Given the description of an element on the screen output the (x, y) to click on. 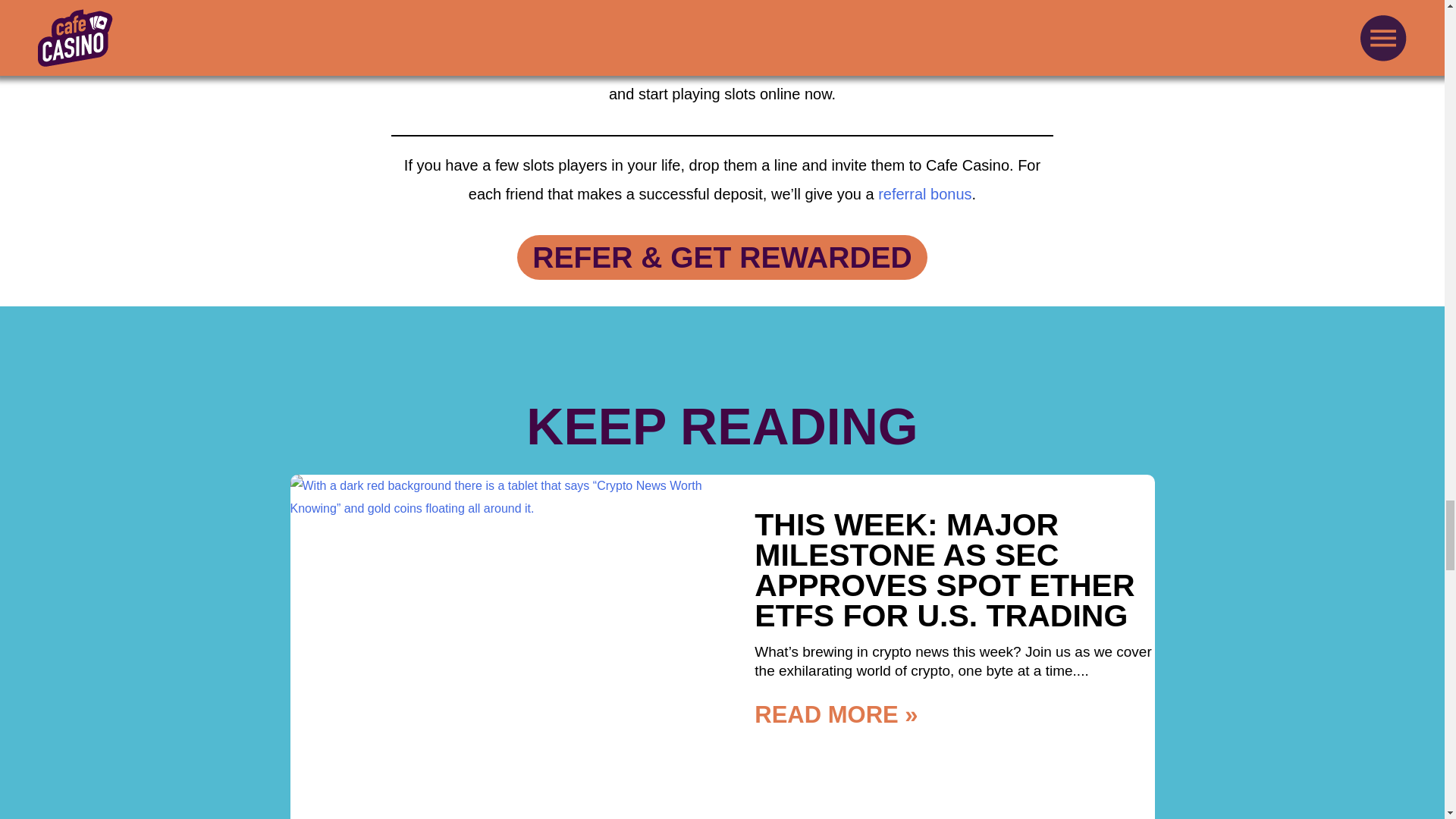
referral bonus (924, 193)
Cafe Casino (653, 65)
